Given the description of an element on the screen output the (x, y) to click on. 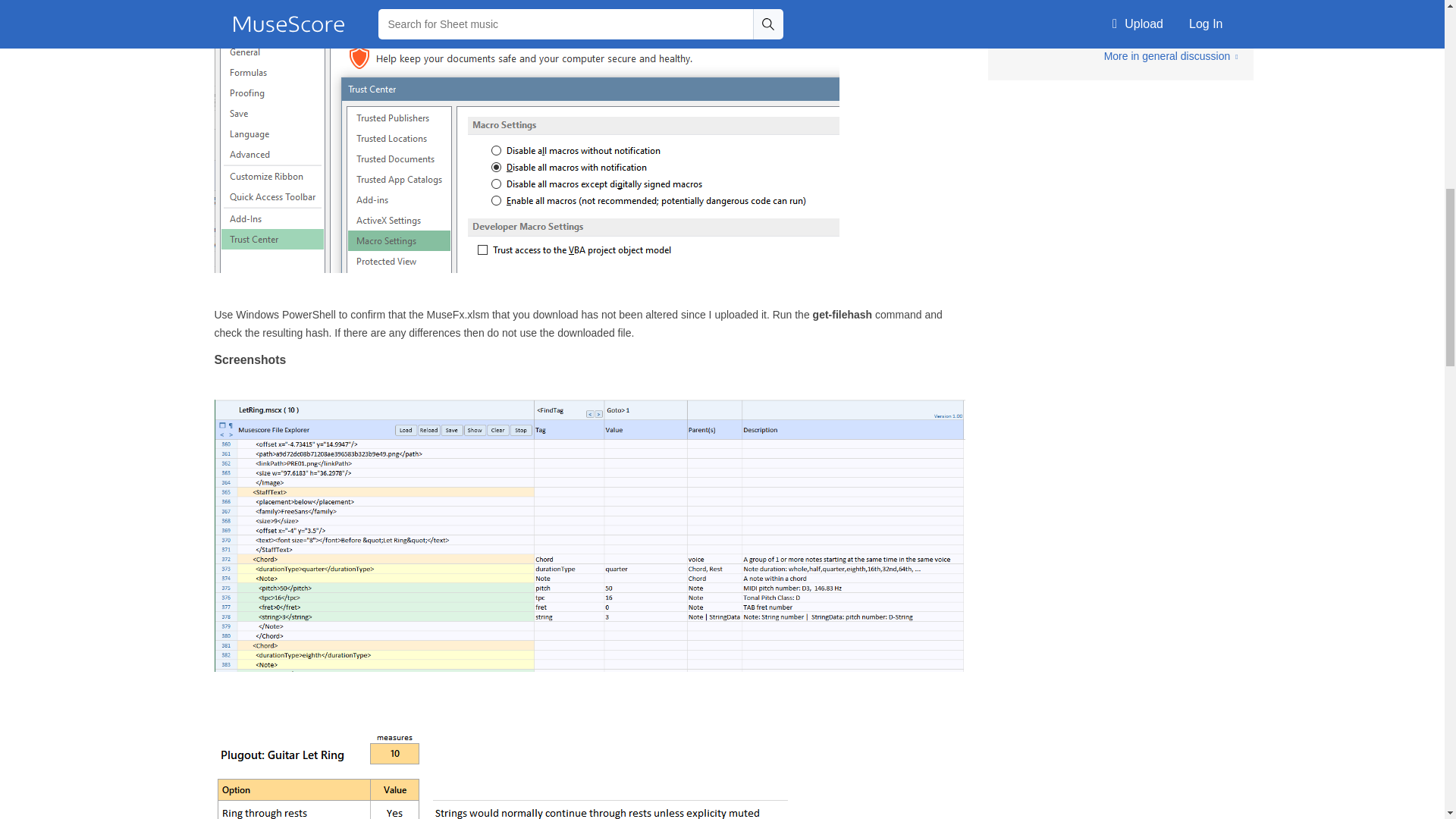
FX2.png (506, 775)
